Given the description of an element on the screen output the (x, y) to click on. 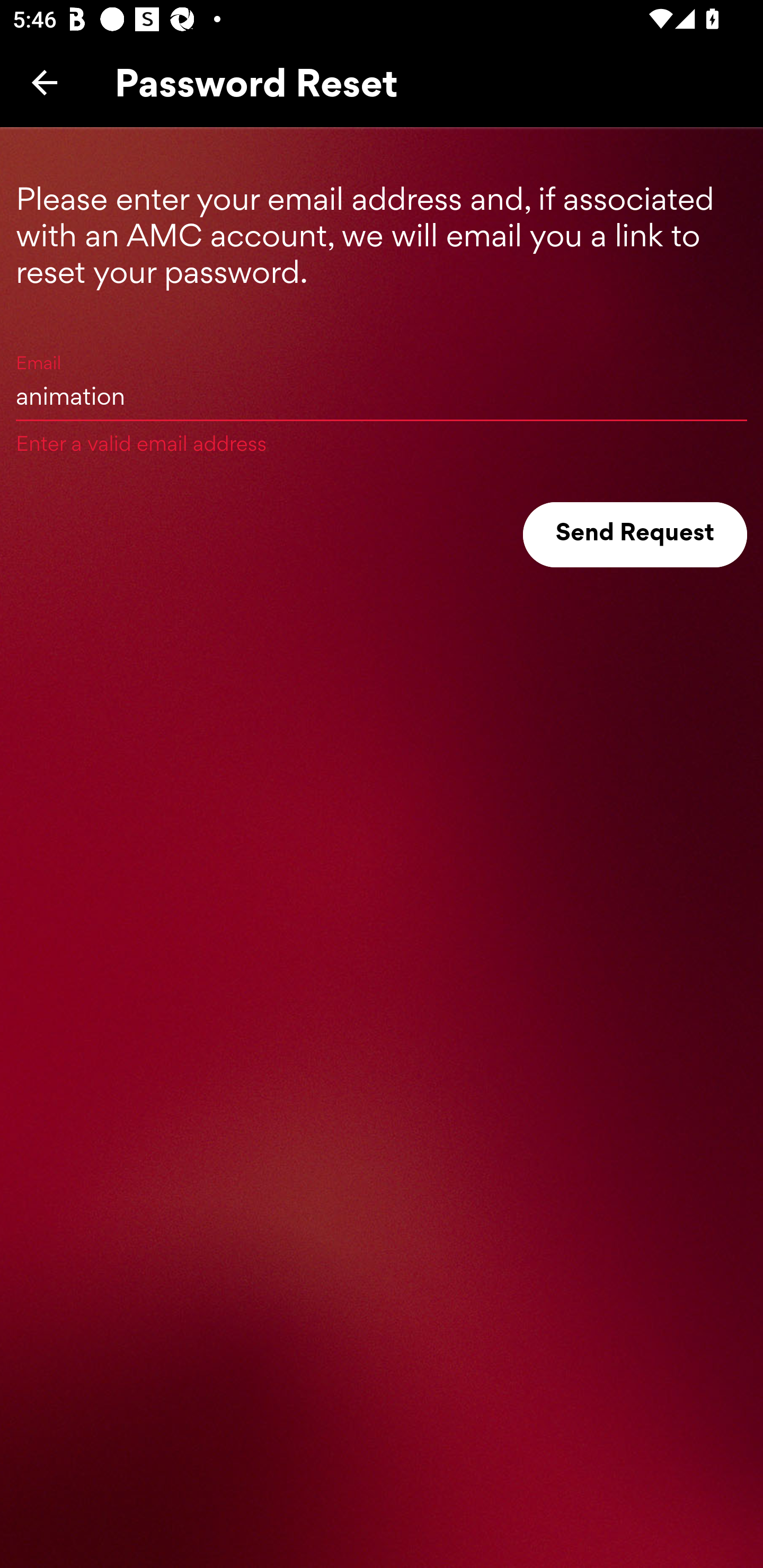
Back (44, 82)
animation Enter a valid email address (381, 394)
Send Request (634, 535)
